Given the description of an element on the screen output the (x, y) to click on. 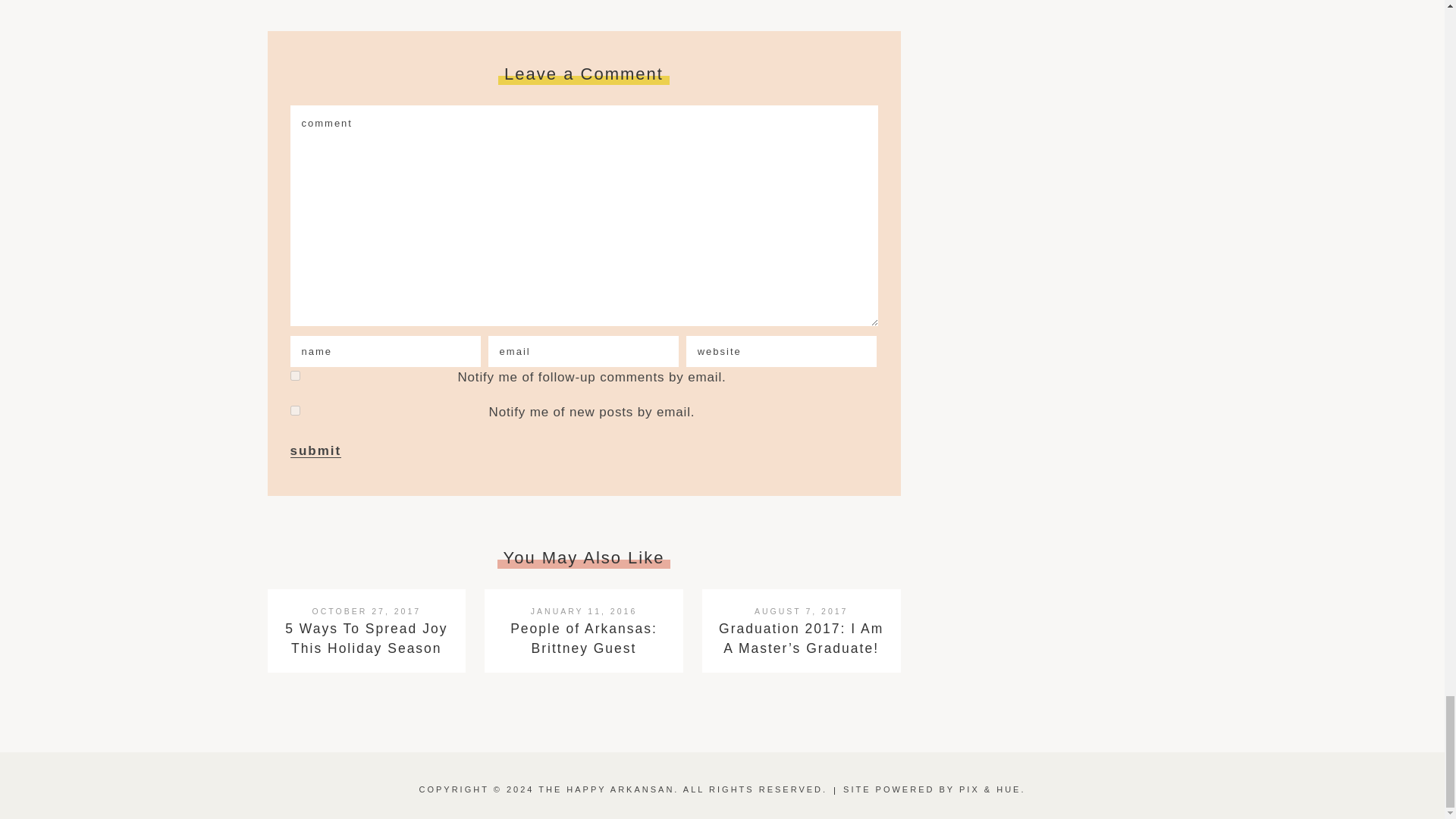
subscribe (294, 410)
5 Ways To Spread Joy This Holiday Season (365, 638)
People of Arkansas: Brittney Guest (584, 638)
subscribe (294, 375)
Submit (314, 450)
Submit (314, 450)
